Given the description of an element on the screen output the (x, y) to click on. 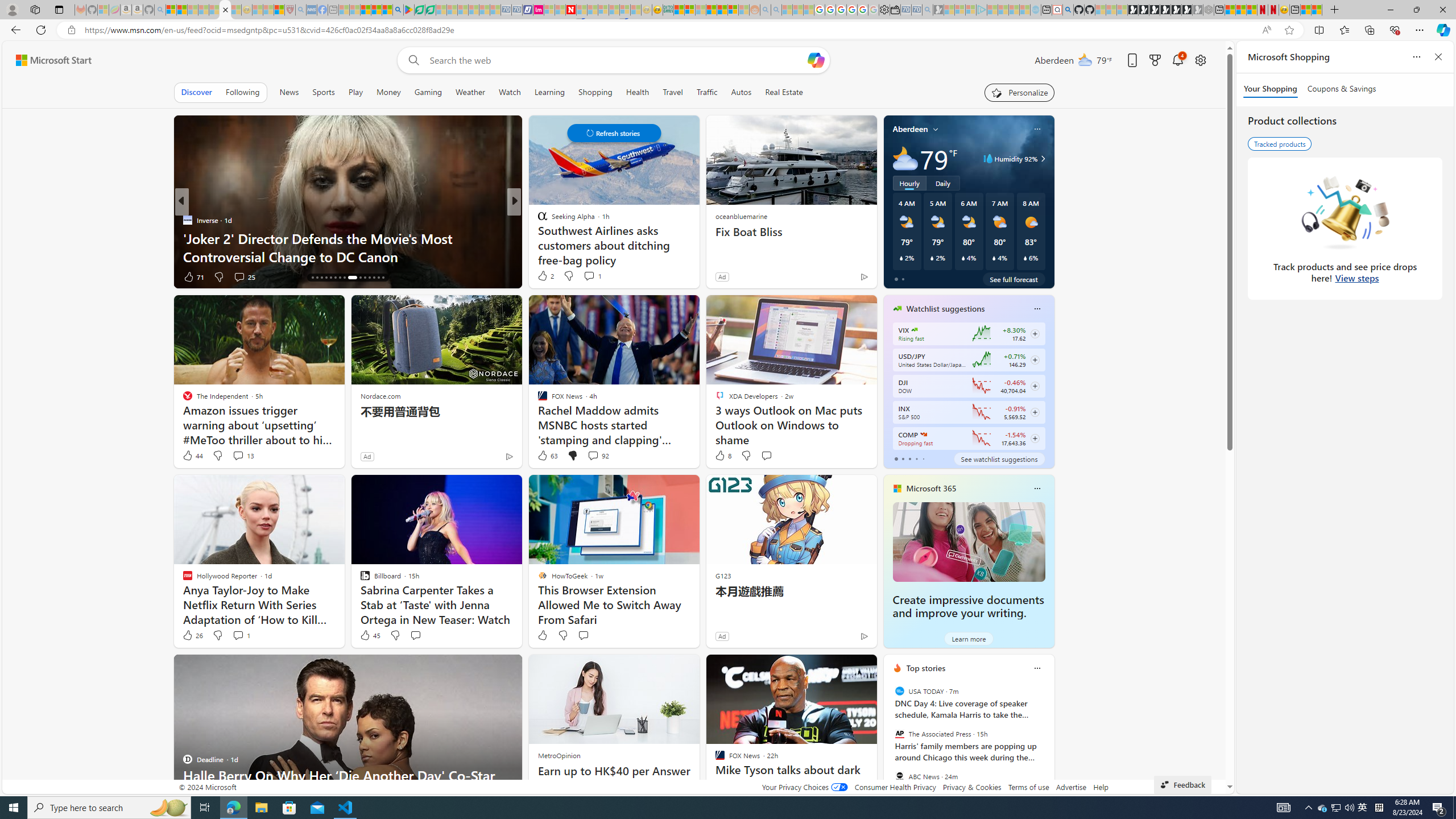
Gaming (428, 92)
See more (862, 668)
View comments 20 Comment (597, 276)
New Report Confirms 2023 Was Record Hot | Watch - Sleeping (213, 9)
Personal Profile (12, 9)
Earn up to HK$40 per Answer (613, 771)
51 Like (543, 276)
26 Like (192, 634)
This story is trending (842, 279)
Personalize your feed" (1019, 92)
Daily (942, 183)
